Given the description of an element on the screen output the (x, y) to click on. 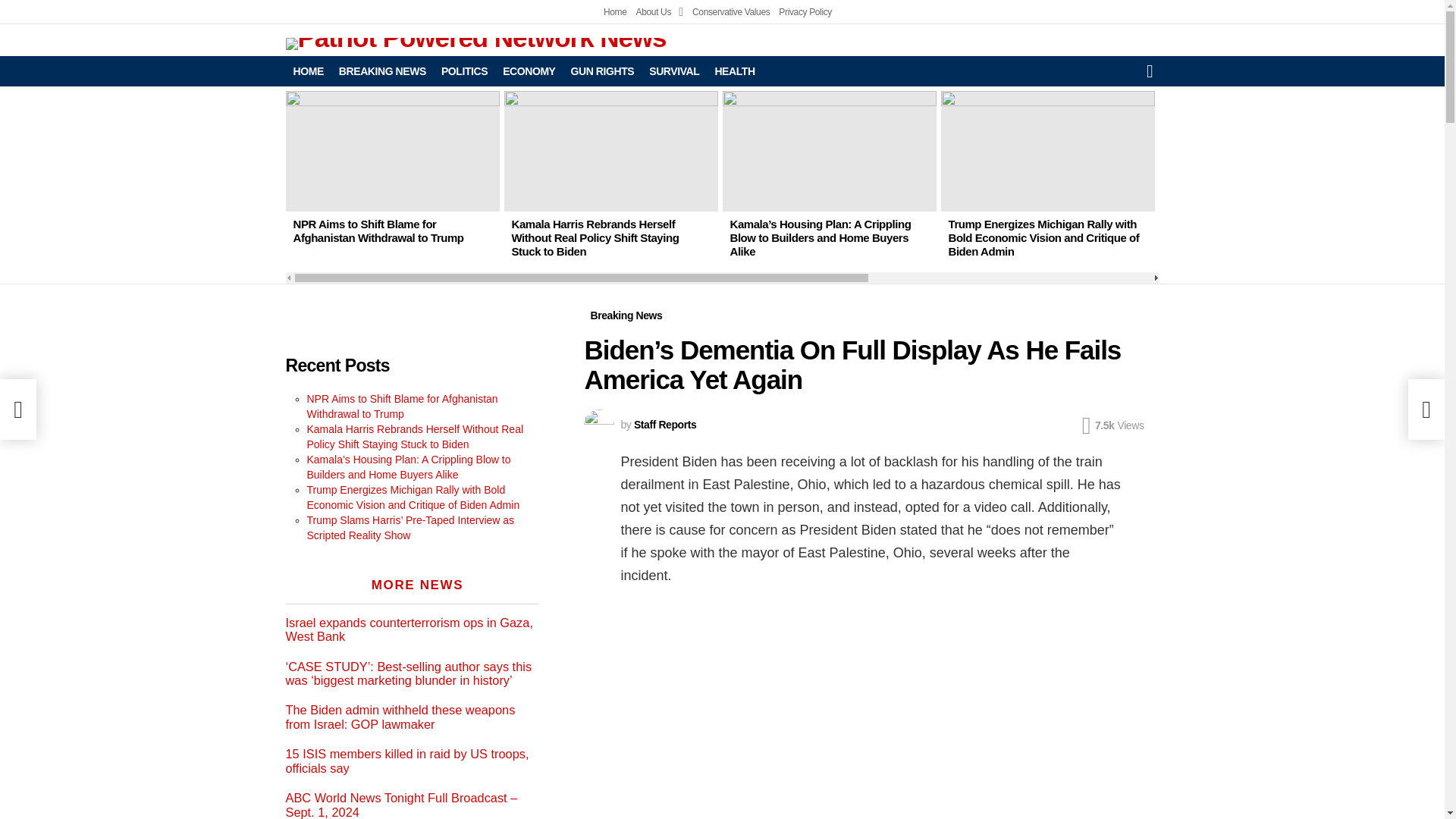
Conservative Values (731, 12)
HEALTH (733, 70)
Posts by Staff Reports (664, 424)
Privacy Policy (804, 12)
About Us (659, 12)
BREAKING NEWS (382, 70)
Home (615, 12)
HOME (307, 70)
